Given the description of an element on the screen output the (x, y) to click on. 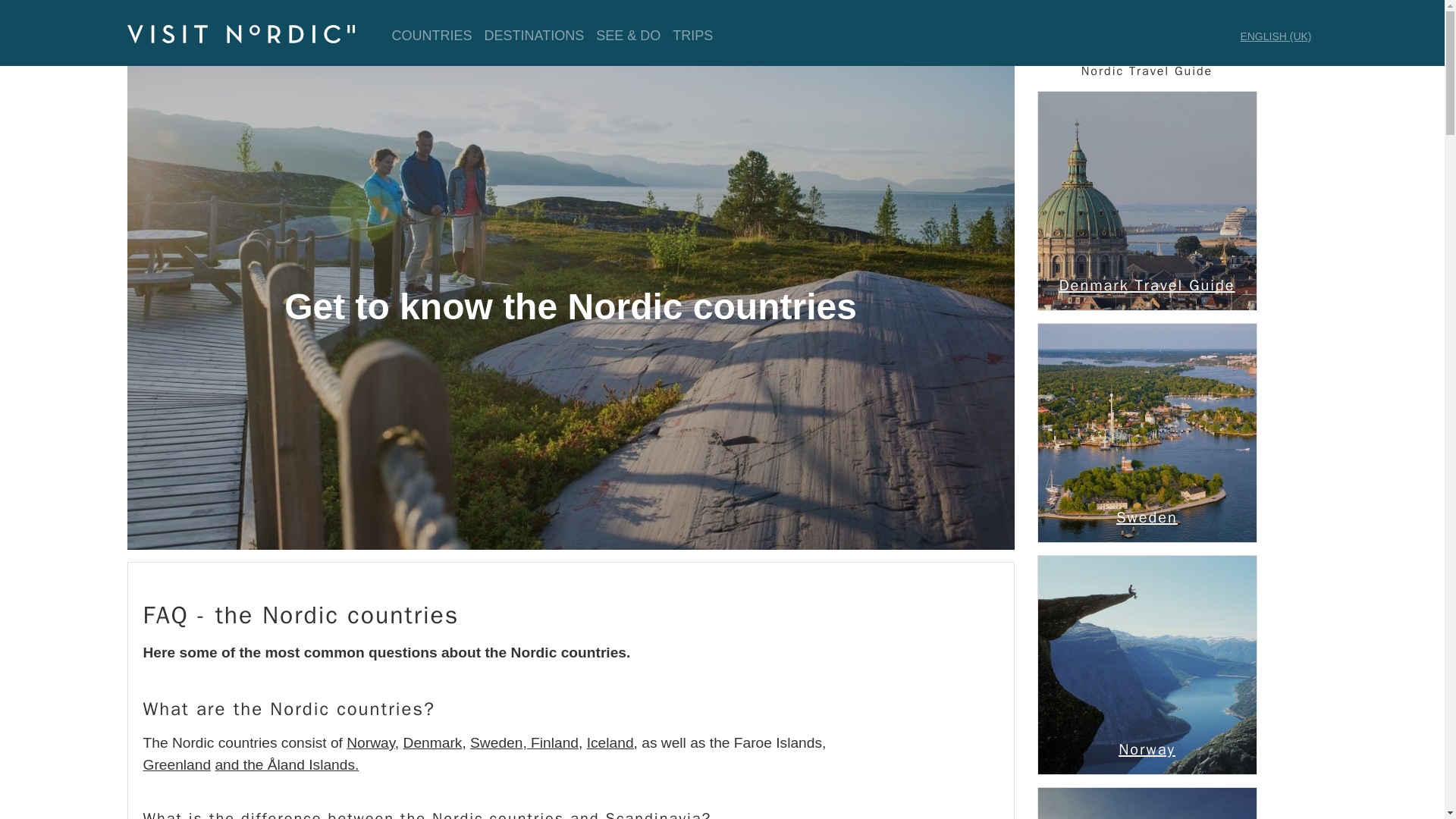
DESTINATIONS (535, 35)
COUNTRIES (431, 35)
Sweden (1145, 432)
Denmark Travel Guide (1145, 200)
Denmark Travel Guide (1146, 285)
Norway (1145, 664)
Norway (1146, 749)
Sweden (1146, 517)
